Given the description of an element on the screen output the (x, y) to click on. 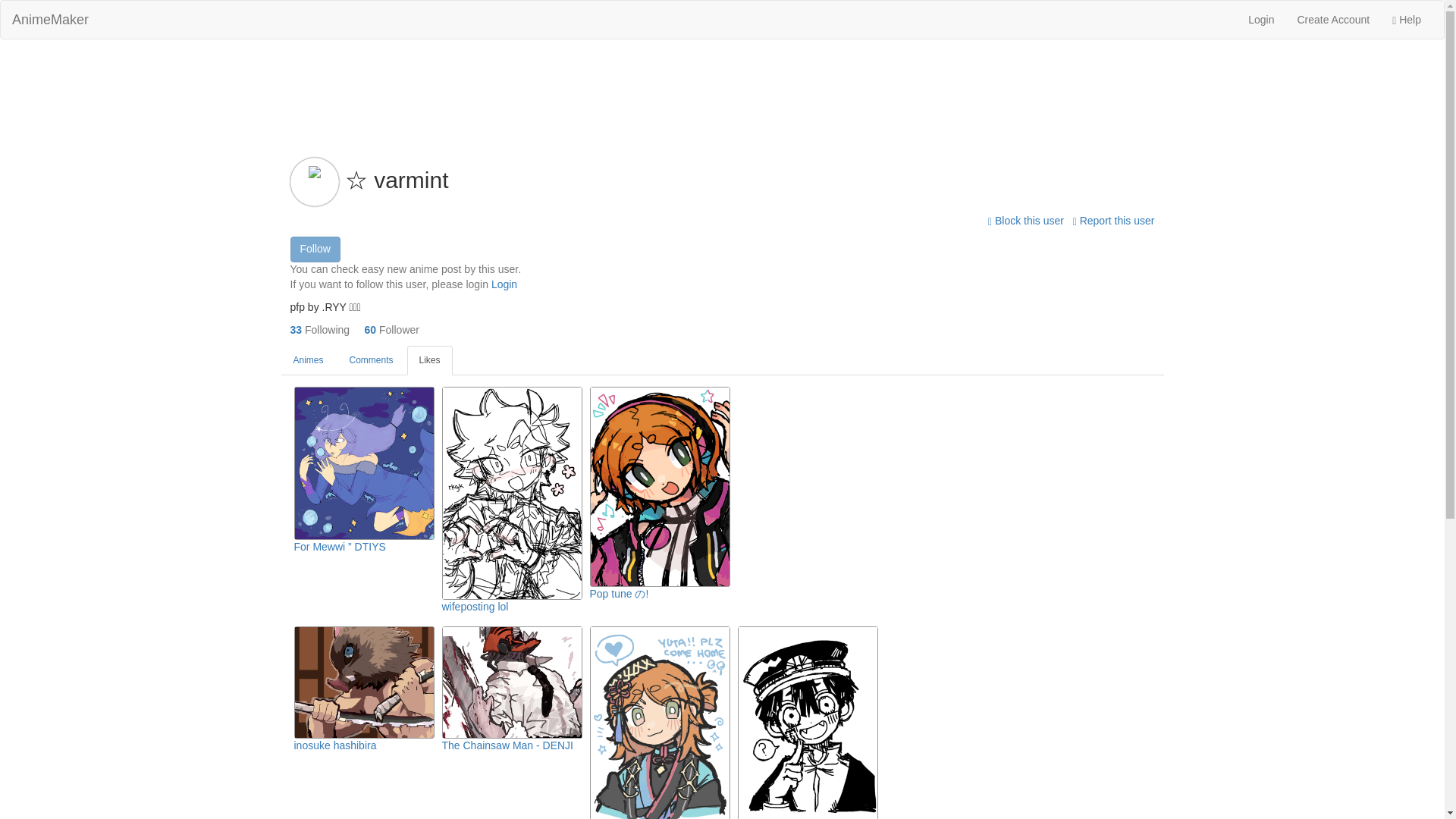
Comments (371, 360)
Block this user (1027, 220)
60 (371, 329)
Follow (314, 249)
33 (295, 329)
Animes (307, 360)
Report this user (1113, 220)
Advertisement (721, 88)
Likes (429, 360)
Following (326, 329)
AnimeMaker (50, 19)
Help (1406, 19)
Login (504, 284)
Follower (398, 329)
The Chainsaw Man - DENJI (507, 745)
